Given the description of an element on the screen output the (x, y) to click on. 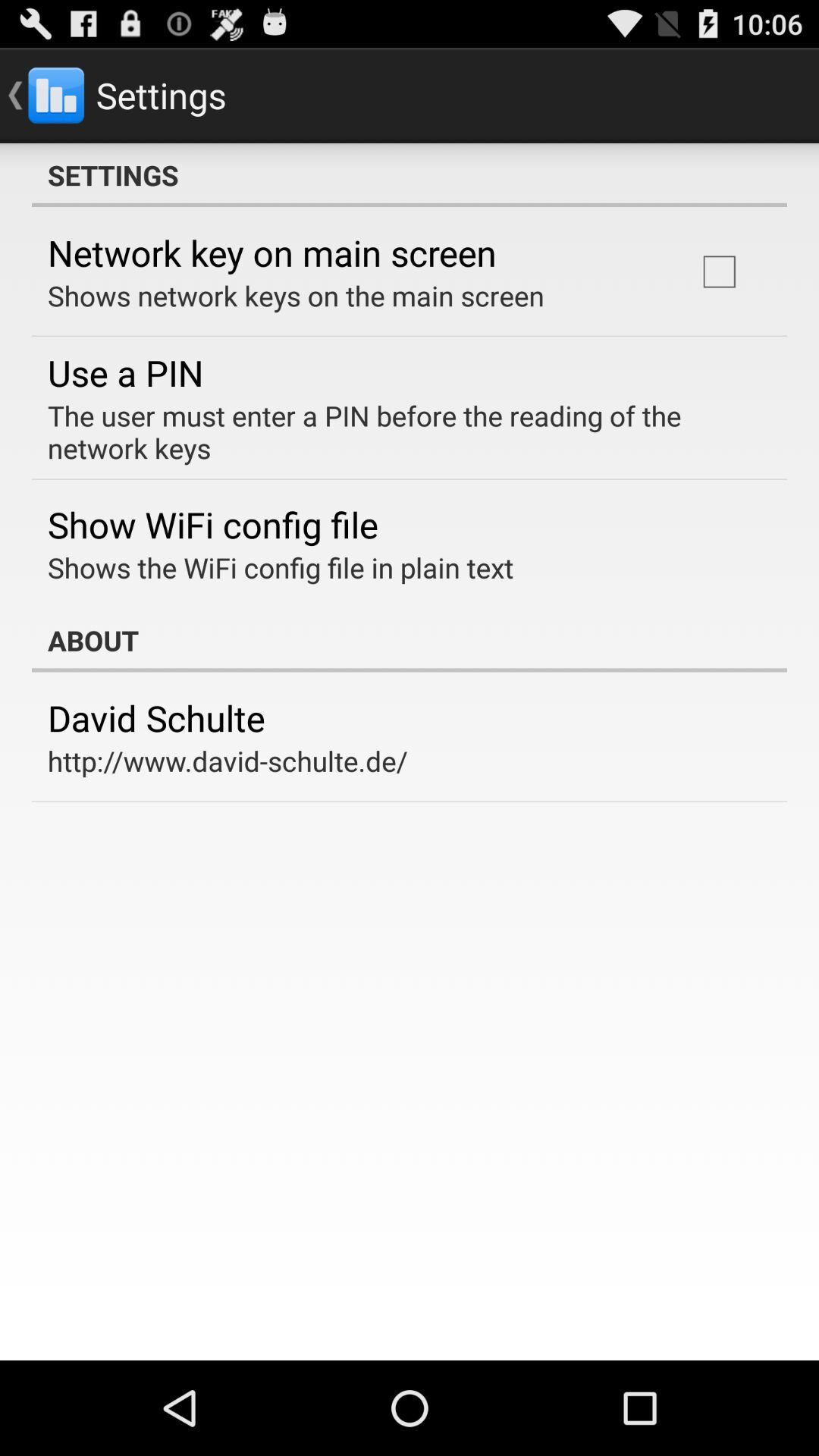
turn on the item below shows the wifi icon (409, 640)
